Given the description of an element on the screen output the (x, y) to click on. 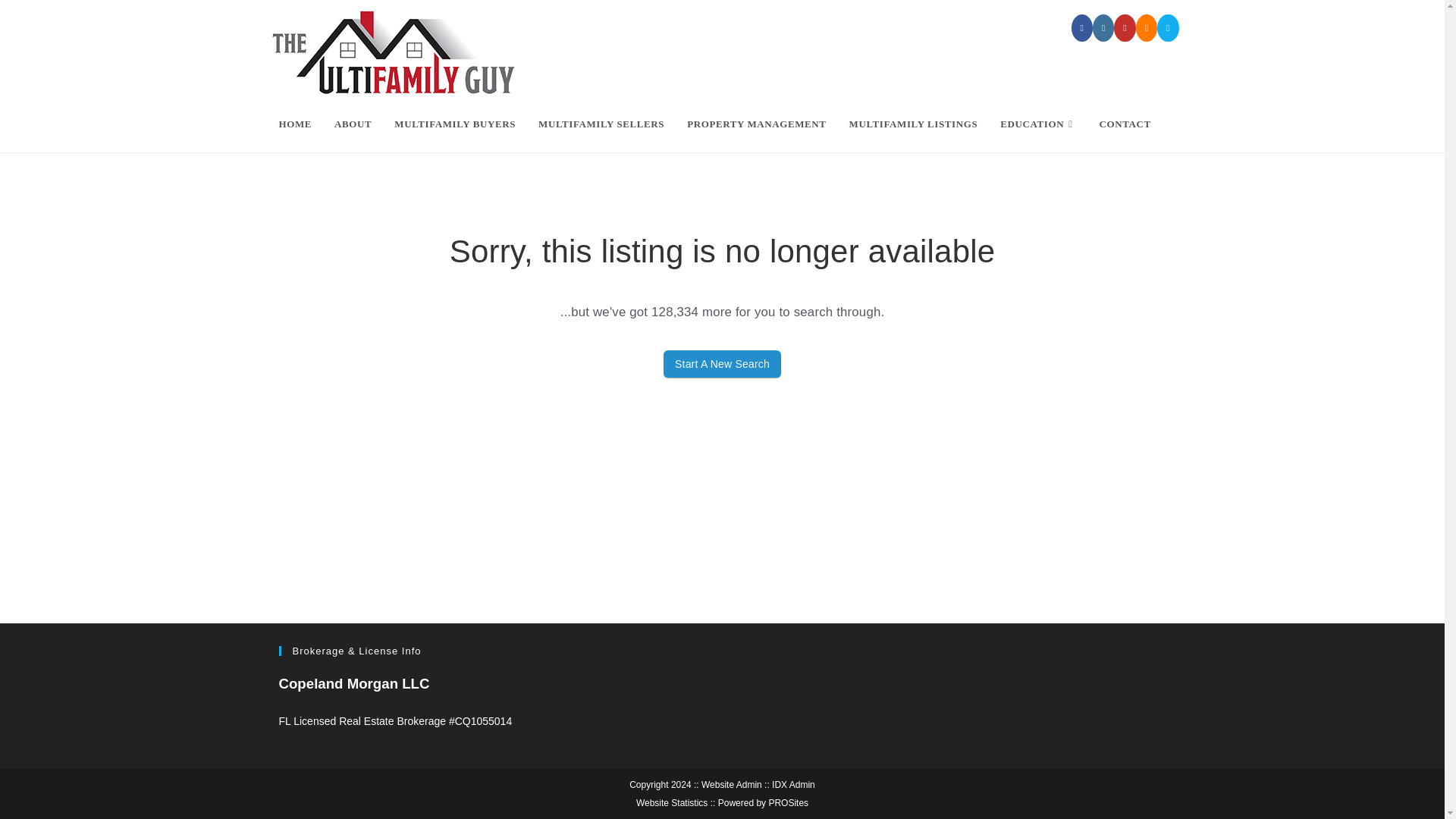
EDUCATION (1037, 124)
CONTACT (1124, 124)
MULTIFAMILY LISTINGS (914, 124)
ABOUT (352, 124)
HOME (294, 124)
PROPERTY MANAGEMENT (756, 124)
MULTIFAMILY SELLERS (601, 124)
MULTIFAMILY BUYERS (454, 124)
